Given the description of an element on the screen output the (x, y) to click on. 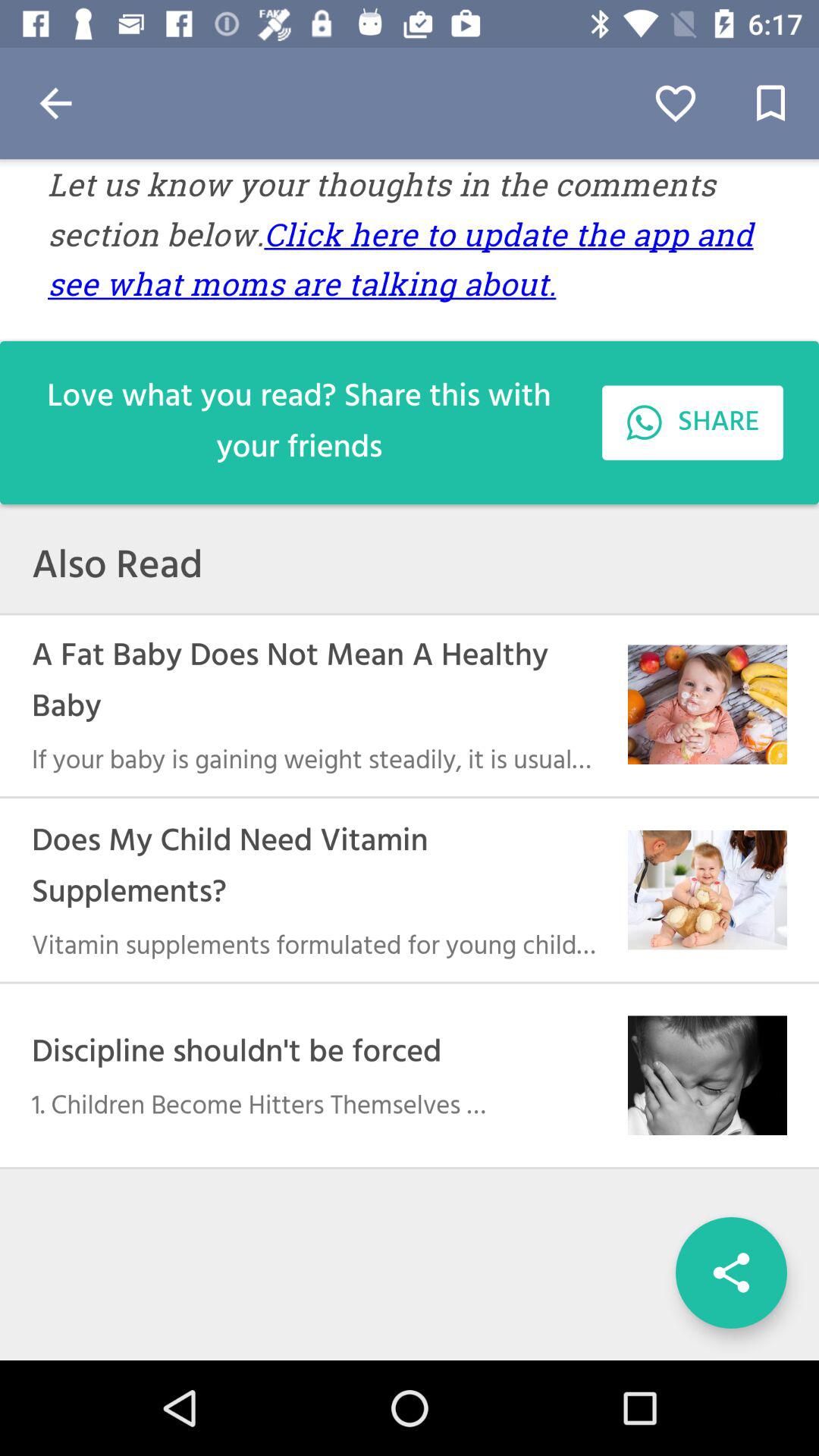
share the article (731, 1272)
